Given the description of an element on the screen output the (x, y) to click on. 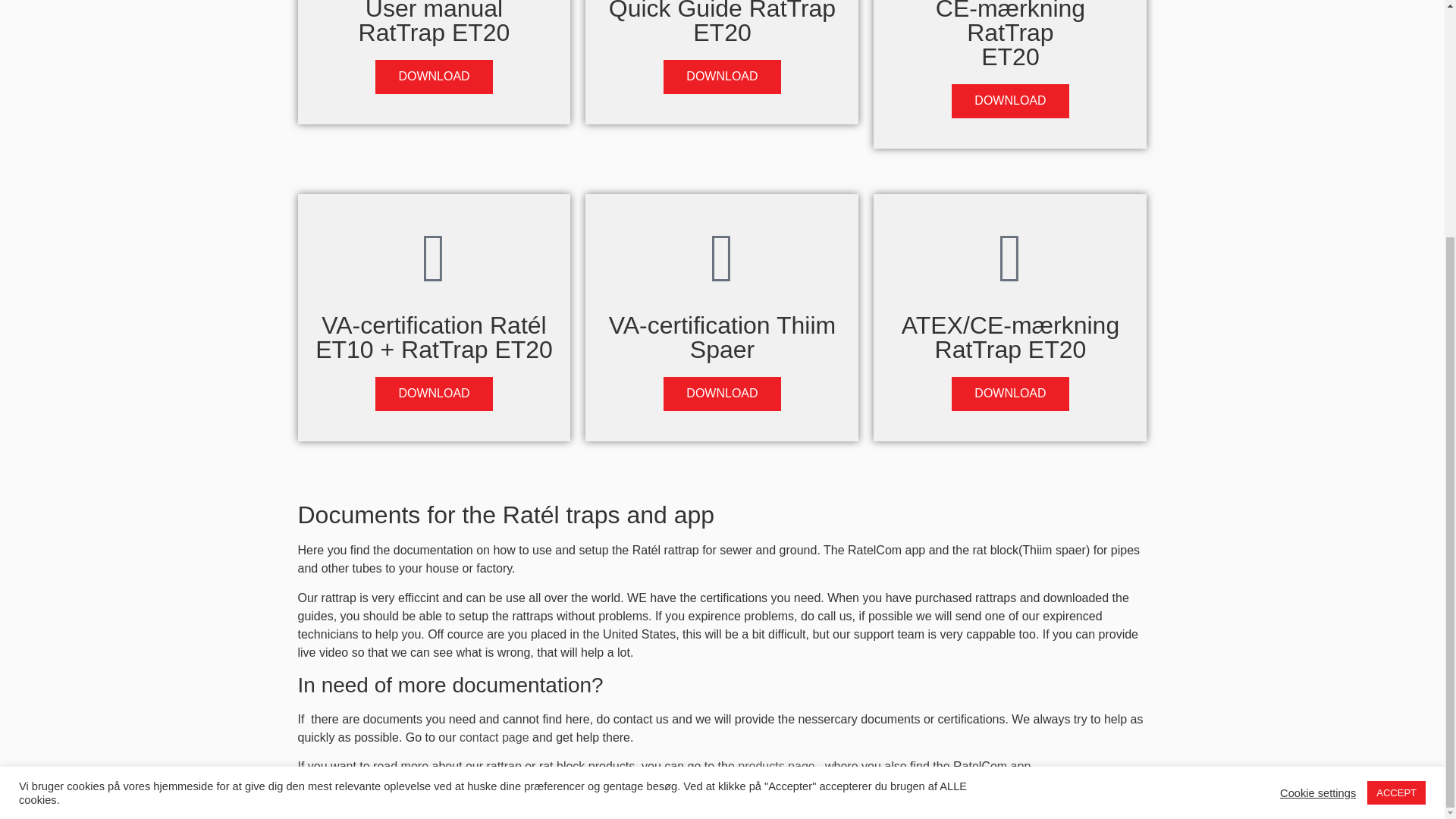
products page (778, 766)
DOWNLOAD (1010, 393)
DOWNLOAD (721, 76)
DOWNLOAD (1010, 100)
Cookie settings (1317, 468)
DOWNLOAD (433, 76)
contact page (494, 737)
DOWNLOAD (433, 393)
ACCEPT (1396, 467)
DOWNLOAD (721, 393)
